Given the description of an element on the screen output the (x, y) to click on. 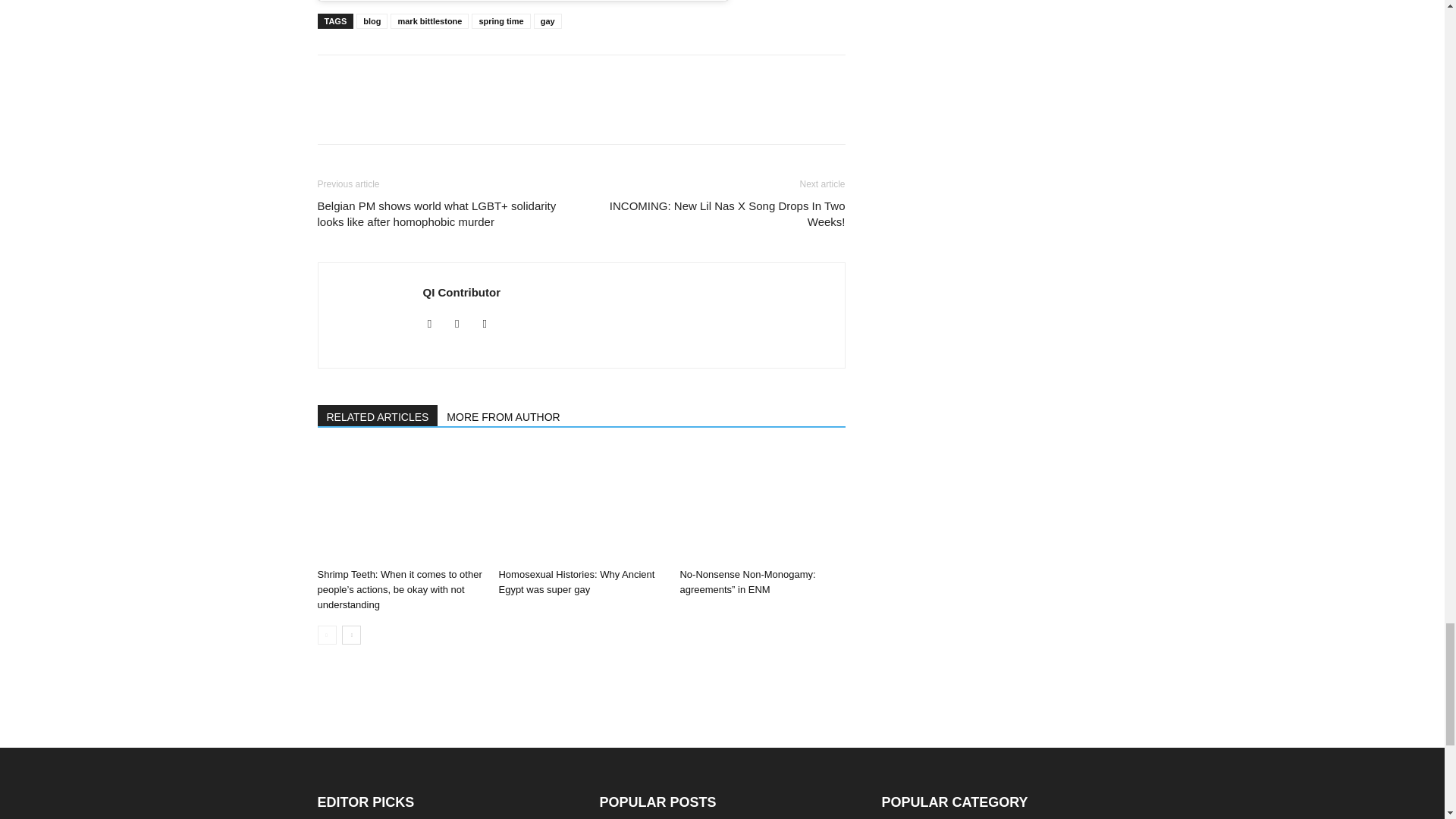
bottomFacebookLike (430, 78)
Facebook (435, 323)
Twitter (489, 323)
Instagram (462, 323)
